Given the description of an element on the screen output the (x, y) to click on. 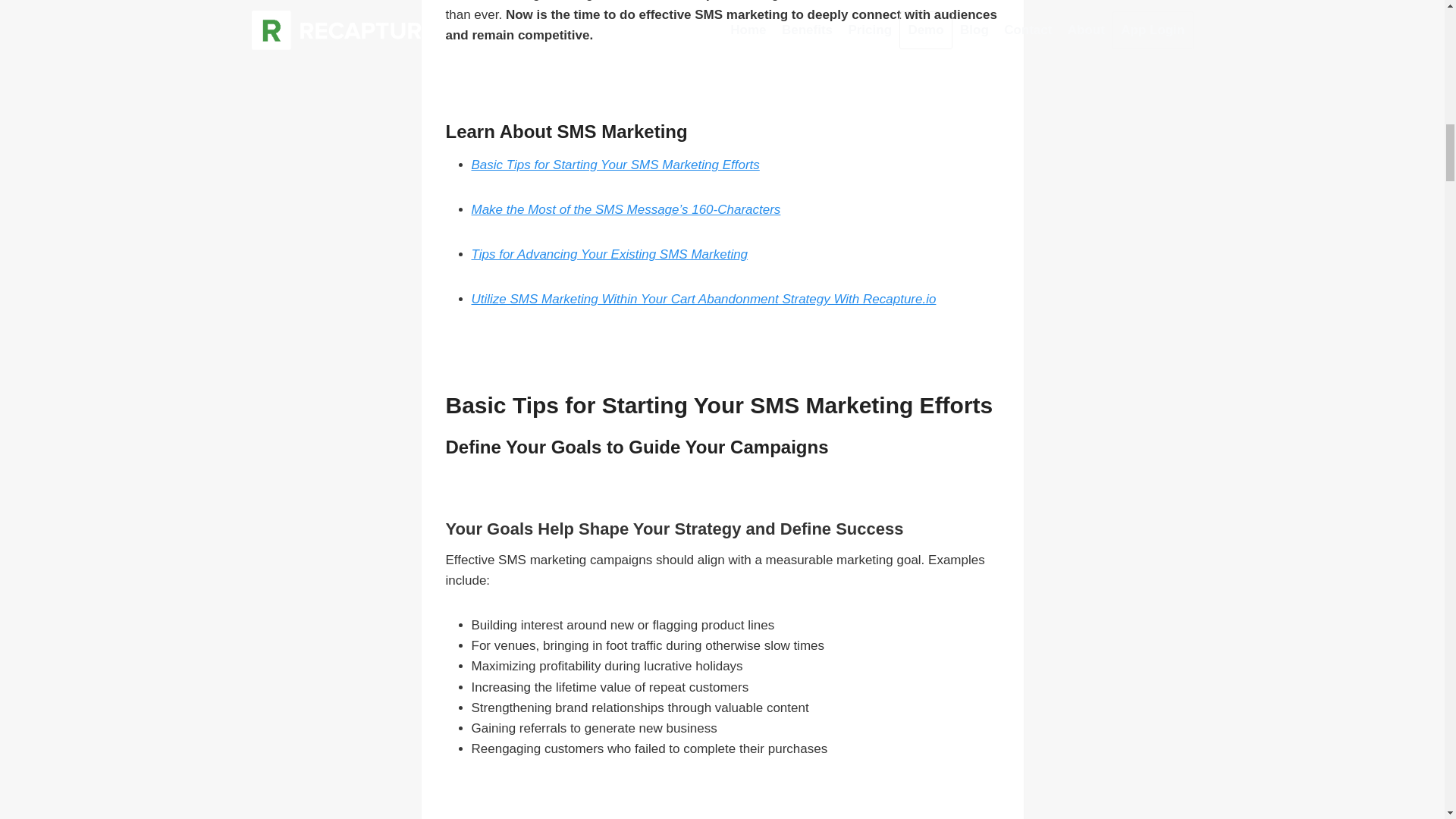
Tips for Advancing Your Existing SMS Marketing (609, 254)
Basic Tips for Starting Your SMS Marketing Efforts (615, 164)
